Given the description of an element on the screen output the (x, y) to click on. 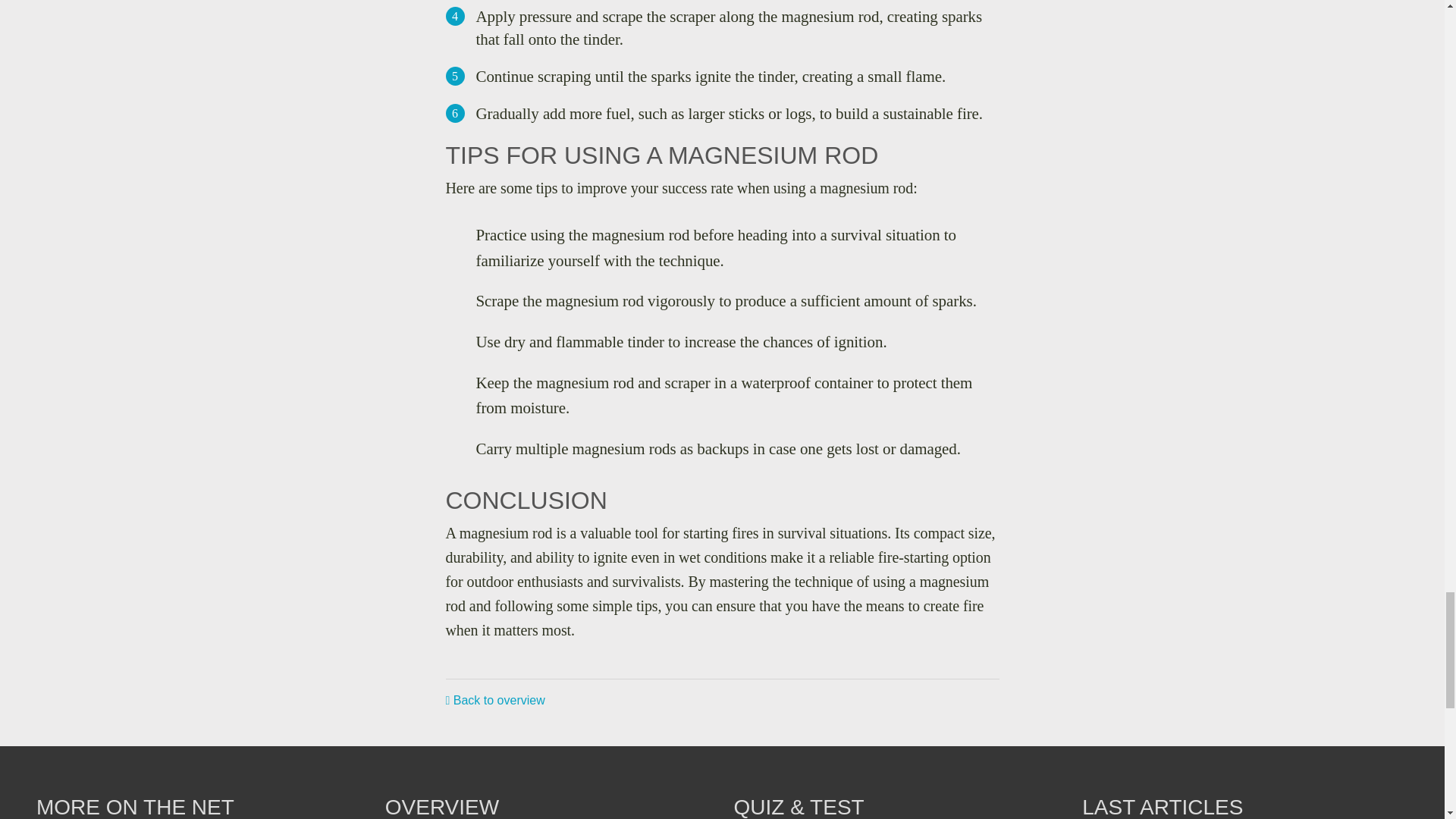
Back to overview (494, 699)
